Given the description of an element on the screen output the (x, y) to click on. 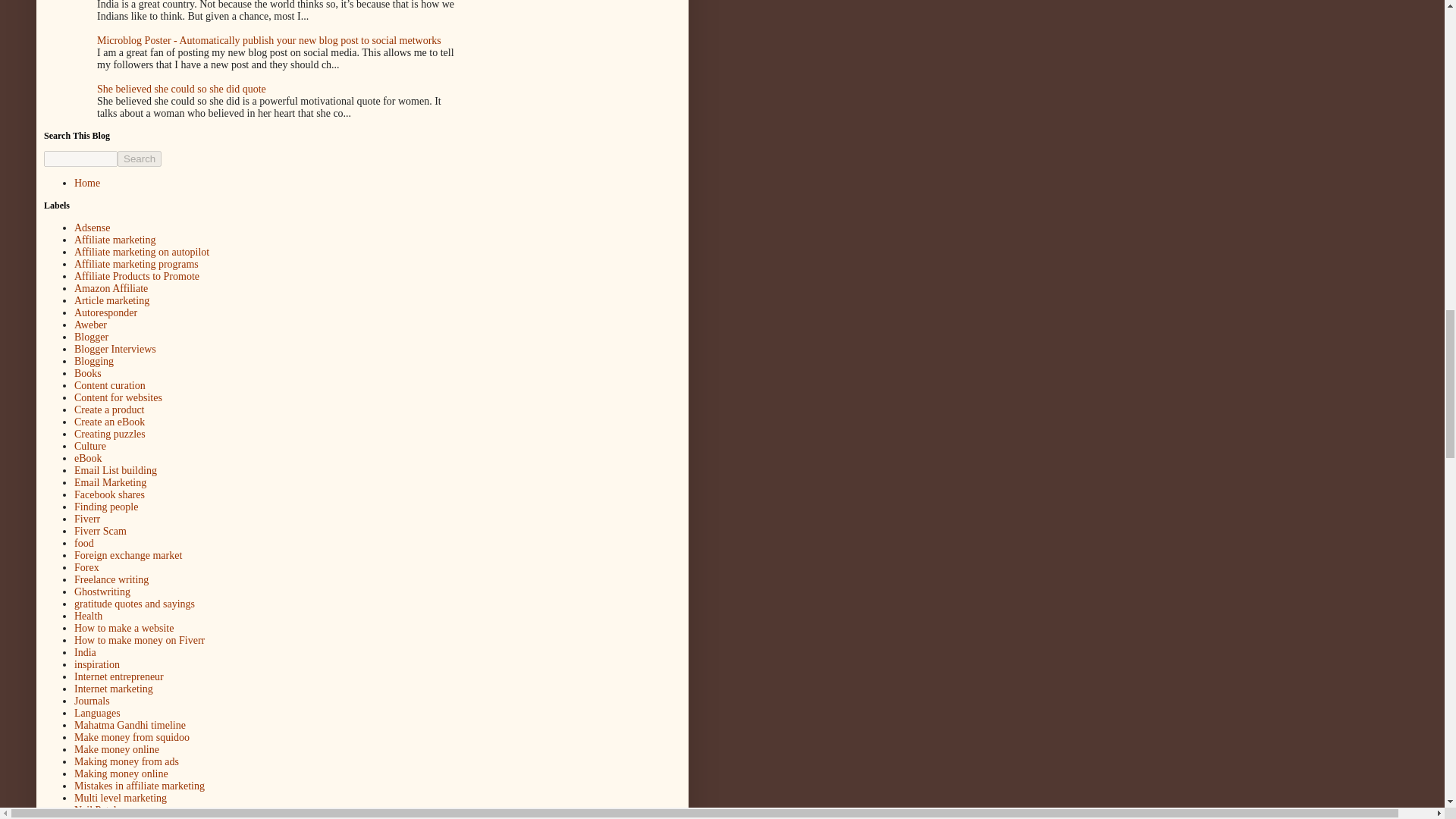
Blogger Interviews (114, 348)
Affiliate marketing programs (136, 264)
Adsense (92, 227)
search (80, 158)
Search (139, 158)
Search (139, 158)
She believed she could so she did quote (181, 89)
Autoresponder (105, 312)
Affiliate marketing on autopilot (141, 251)
